Given the description of an element on the screen output the (x, y) to click on. 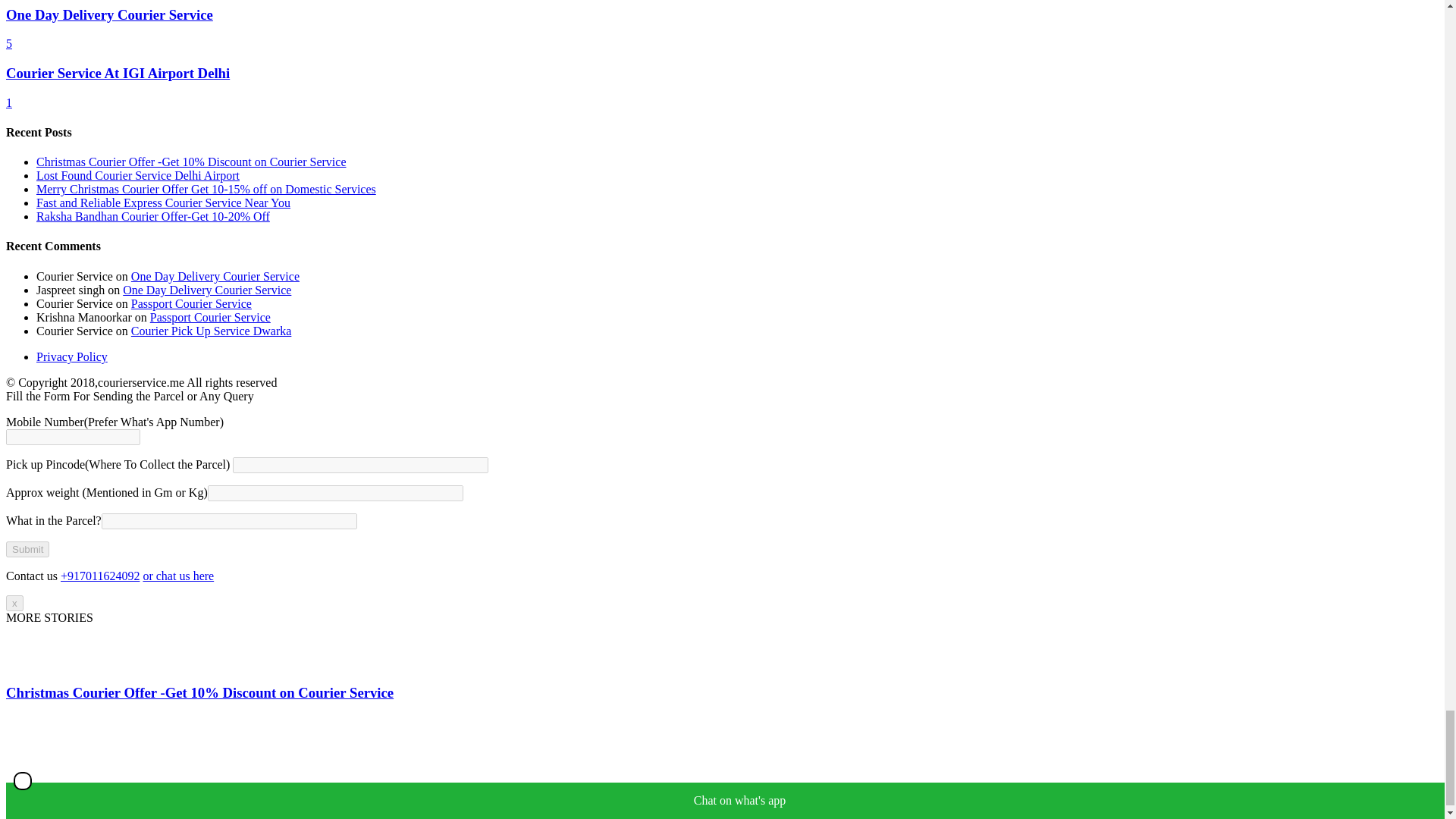
Submit (27, 549)
